Given the description of an element on the screen output the (x, y) to click on. 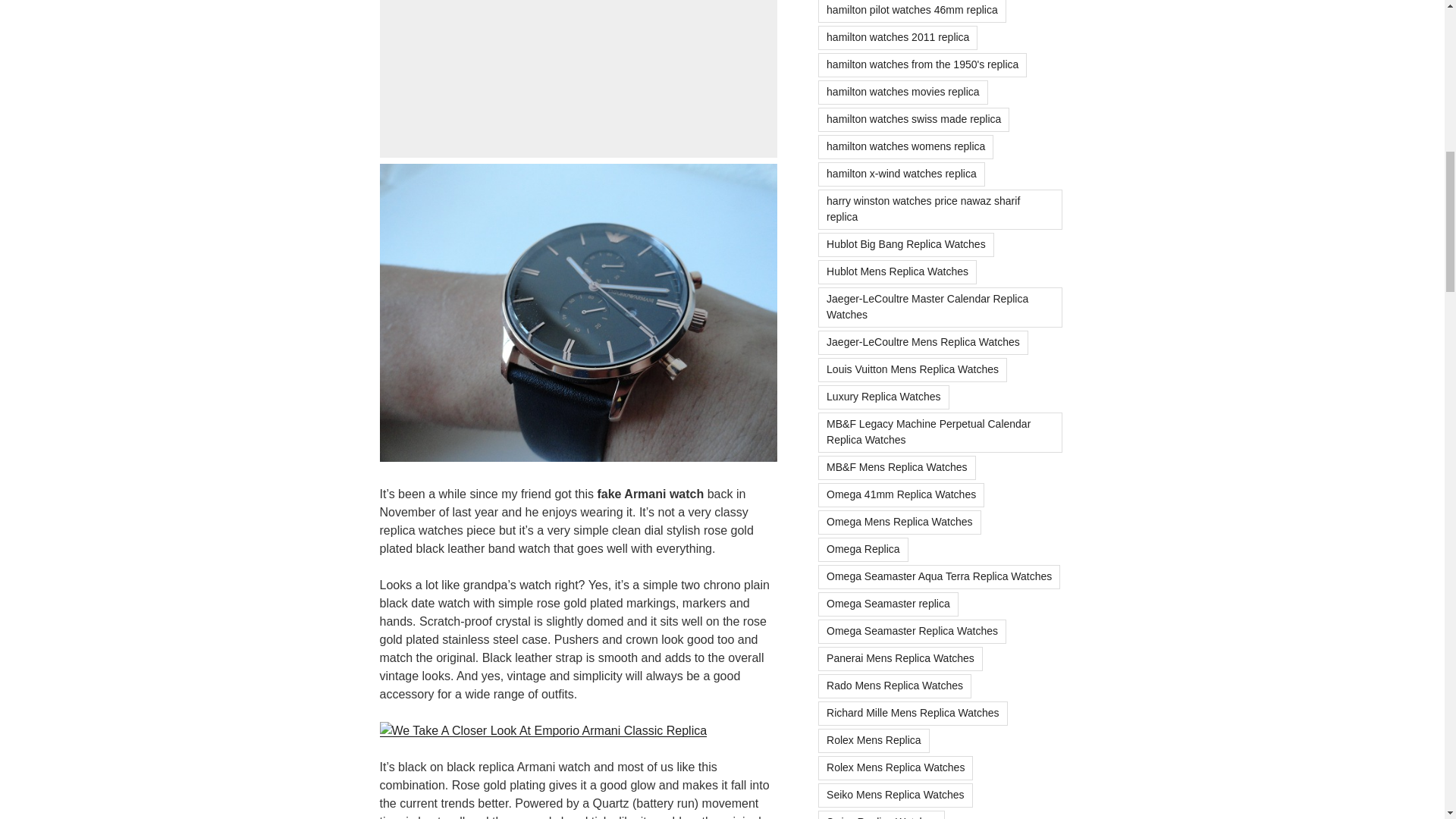
Omega Mens Replica Watches (898, 522)
hamilton pilot watches 46mm replica (912, 11)
hamilton watches swiss made replica (913, 119)
hamilton x-wind watches replica (901, 174)
Jaeger-LeCoultre Master Calendar Replica Watches (939, 307)
hamilton watches movies replica (903, 92)
Omega Replica (863, 549)
Hublot Big Bang Replica Watches (906, 244)
hamilton watches from the 1950's replica (922, 64)
harry winston watches price nawaz sharif replica (939, 209)
hamilton watches 2011 replica (897, 37)
Louis Vuitton Mens Replica Watches (912, 369)
Hublot Mens Replica Watches (897, 272)
Luxury Replica Watches (883, 396)
Jaeger-LeCoultre Mens Replica Watches (922, 342)
